Given the description of an element on the screen output the (x, y) to click on. 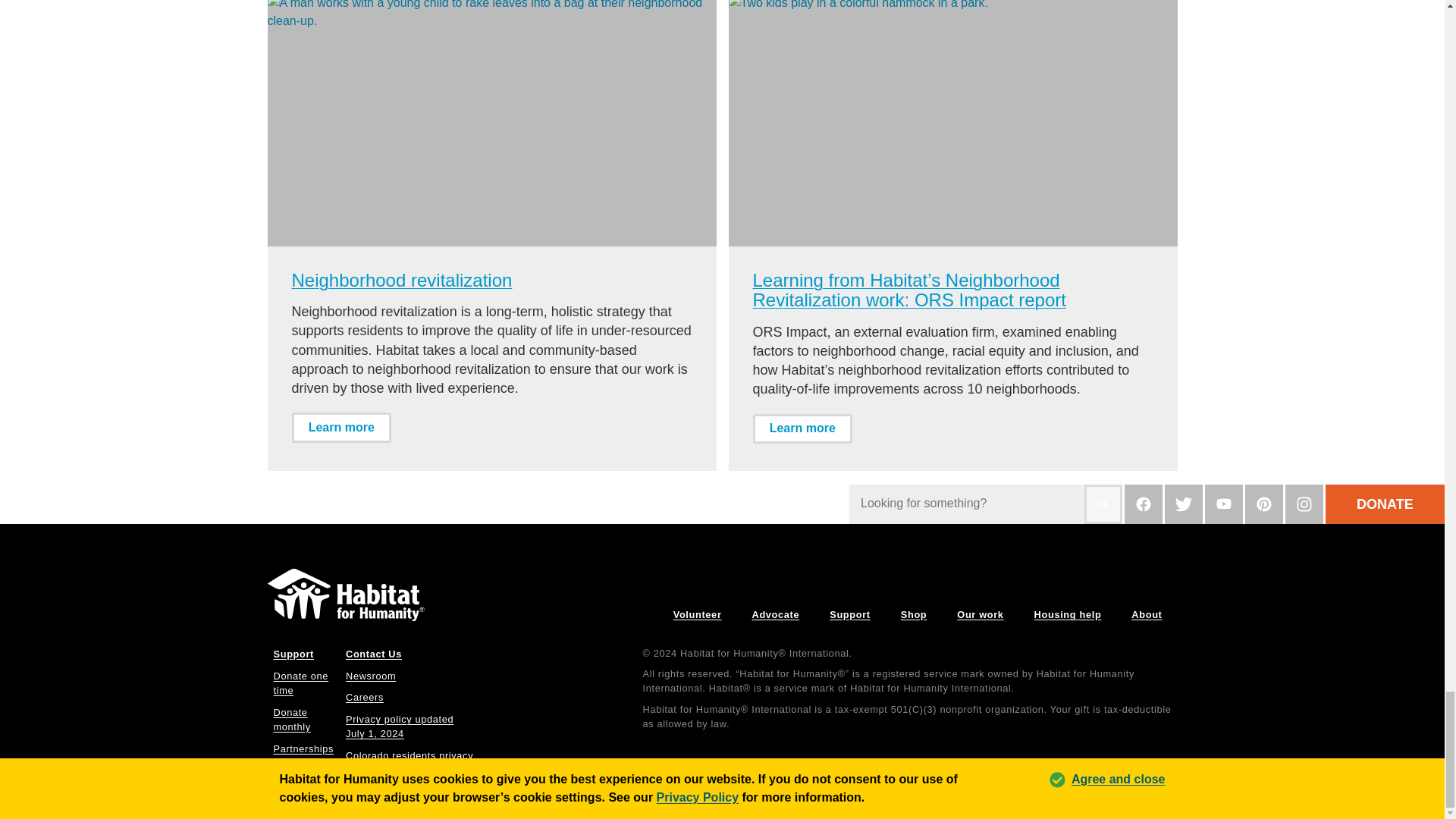
Facebook (1142, 504)
Pinterest (1263, 504)
Youtube (1224, 504)
Twitter (1183, 504)
Instagram (1304, 504)
